Given the description of an element on the screen output the (x, y) to click on. 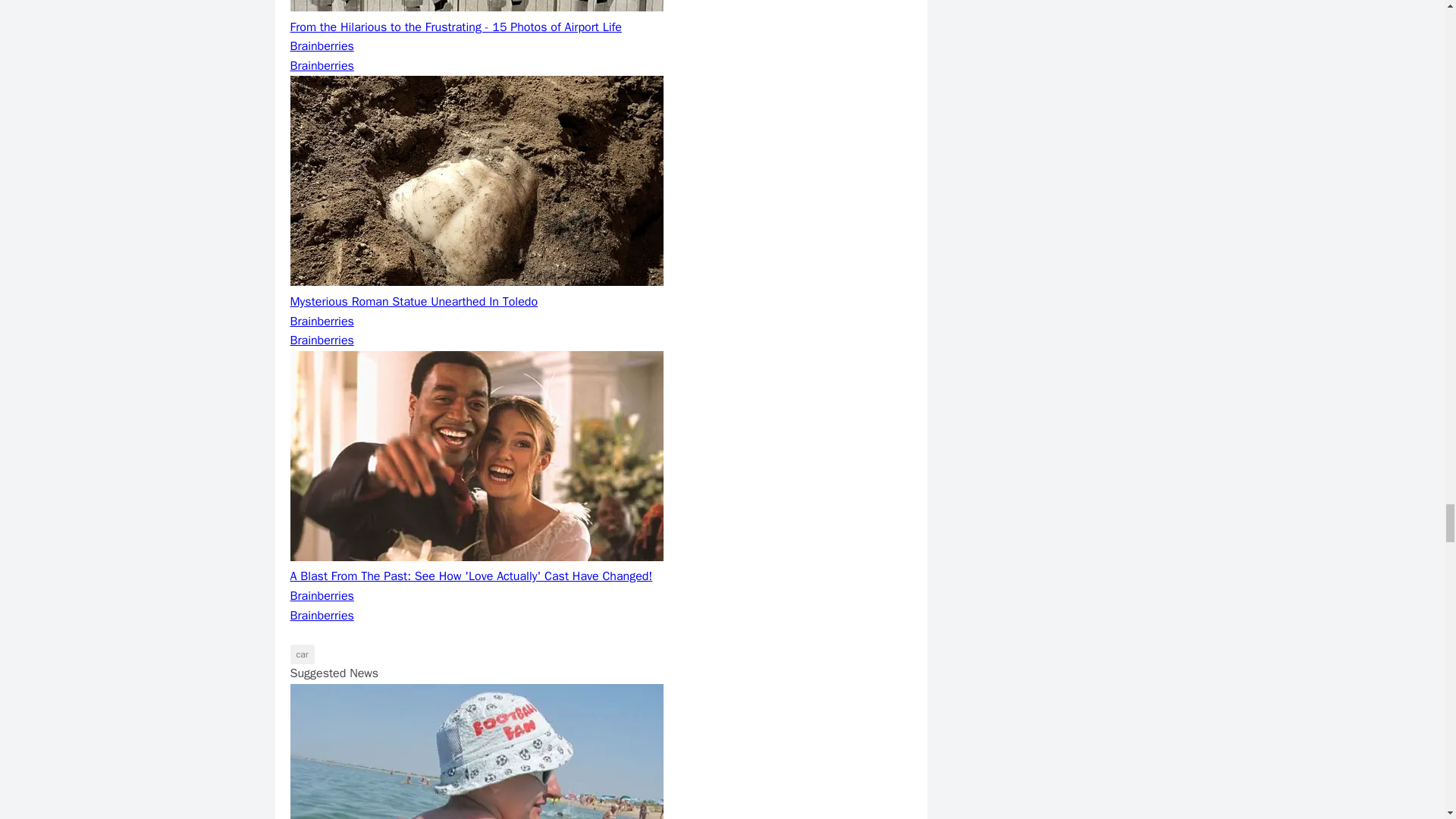
car (301, 654)
